Given the description of an element on the screen output the (x, y) to click on. 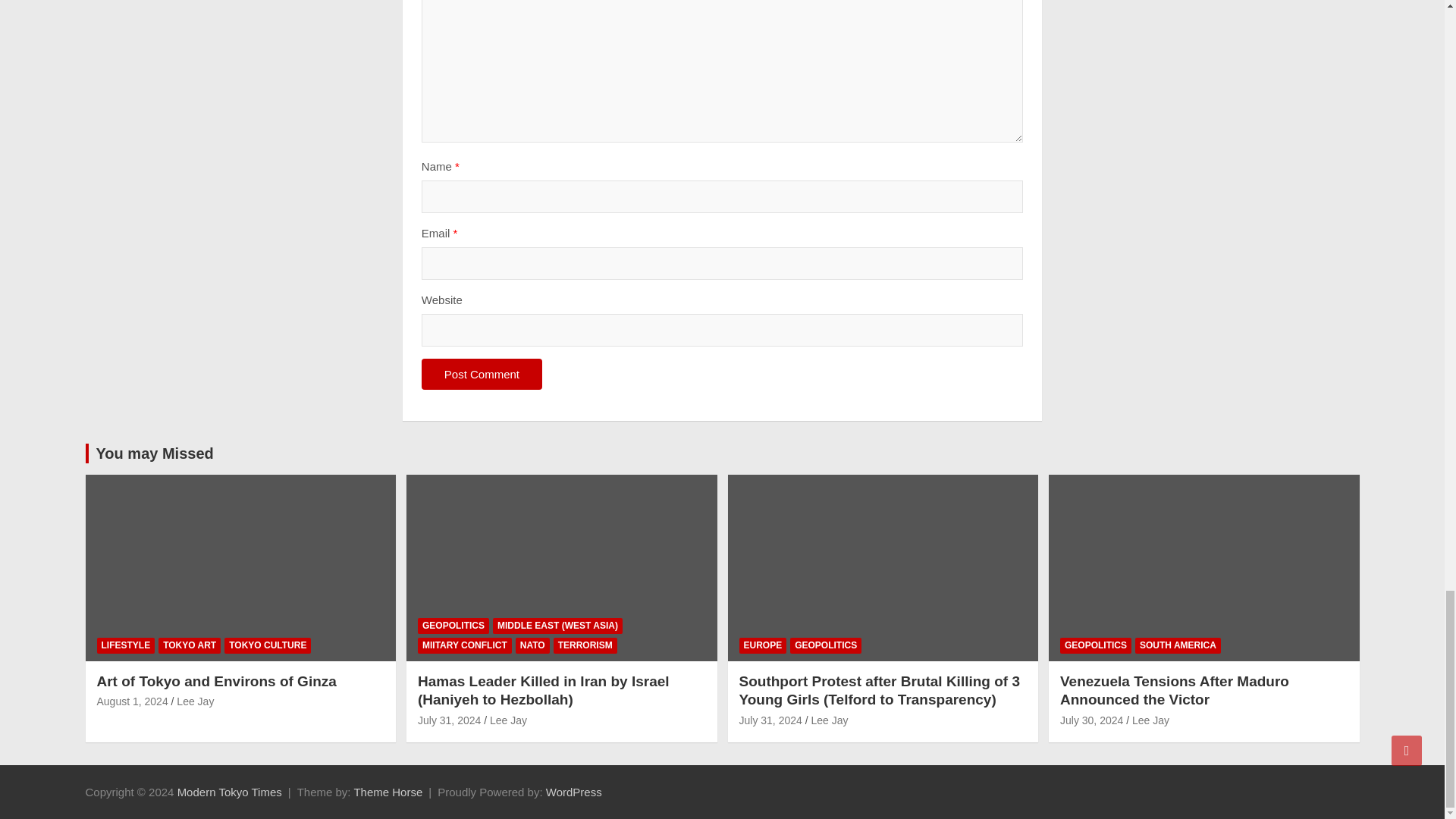
Art of Tokyo and Environs of Ginza (132, 701)
WordPress (574, 791)
Modern Tokyo Times (229, 791)
Post Comment (481, 373)
Venezuela Tensions After Maduro Announced the Victor (1090, 720)
Theme Horse (387, 791)
